Given the description of an element on the screen output the (x, y) to click on. 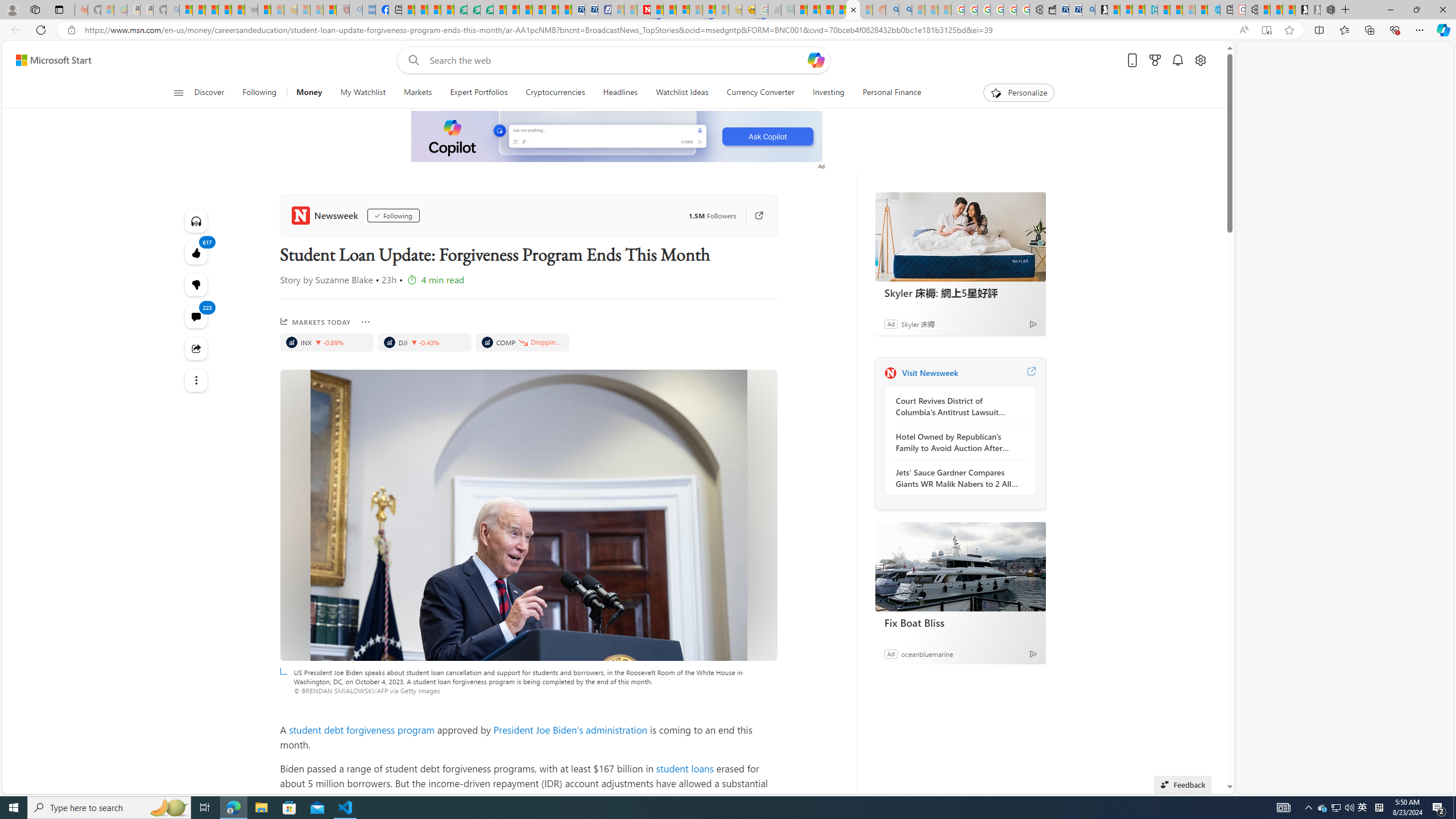
More Options (365, 321)
Money (308, 92)
Investing (828, 92)
President Joe Biden's administration (570, 729)
Newsweek (326, 215)
